Given the description of an element on the screen output the (x, y) to click on. 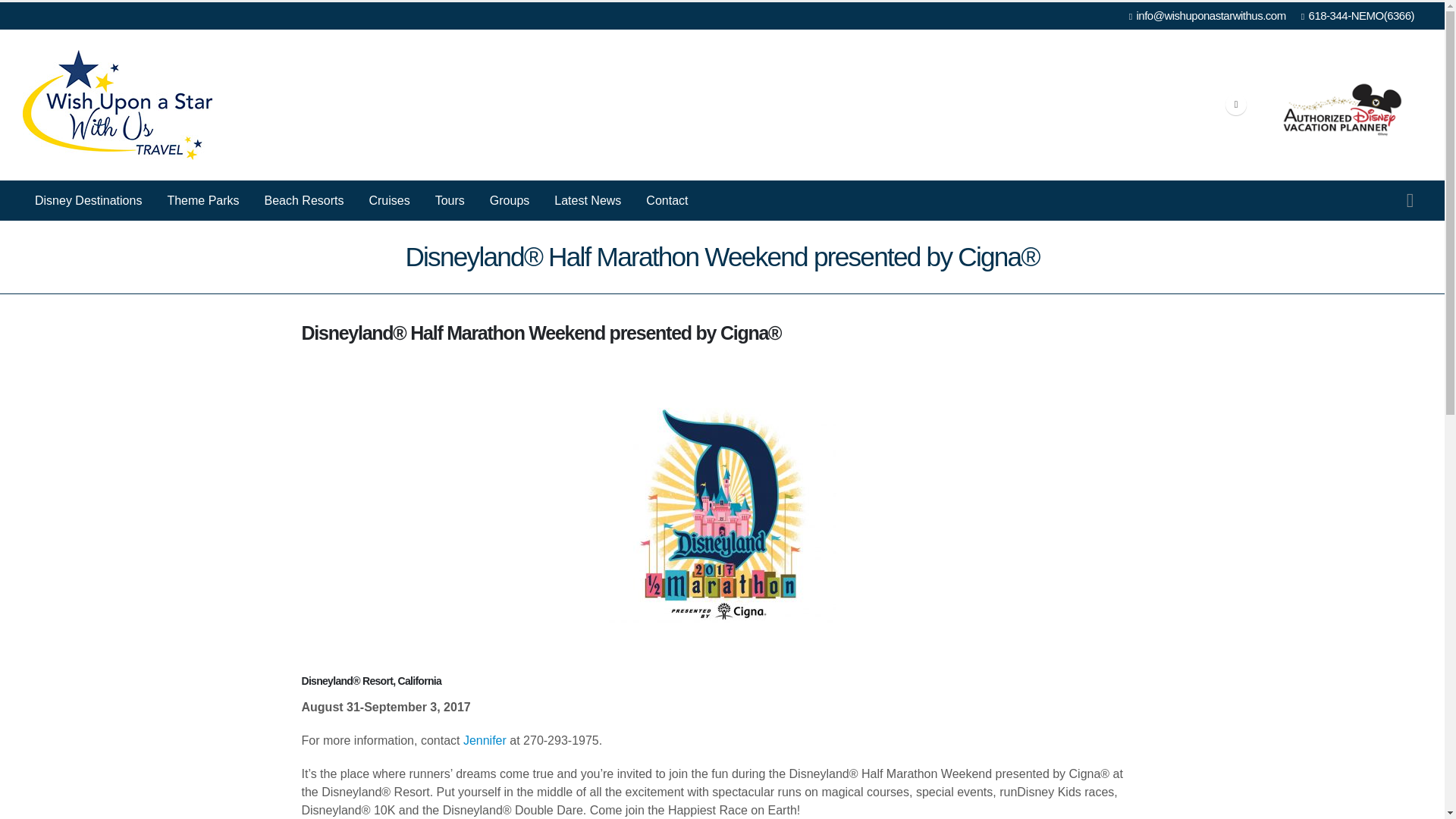
Facebook (1235, 104)
